Given the description of an element on the screen output the (x, y) to click on. 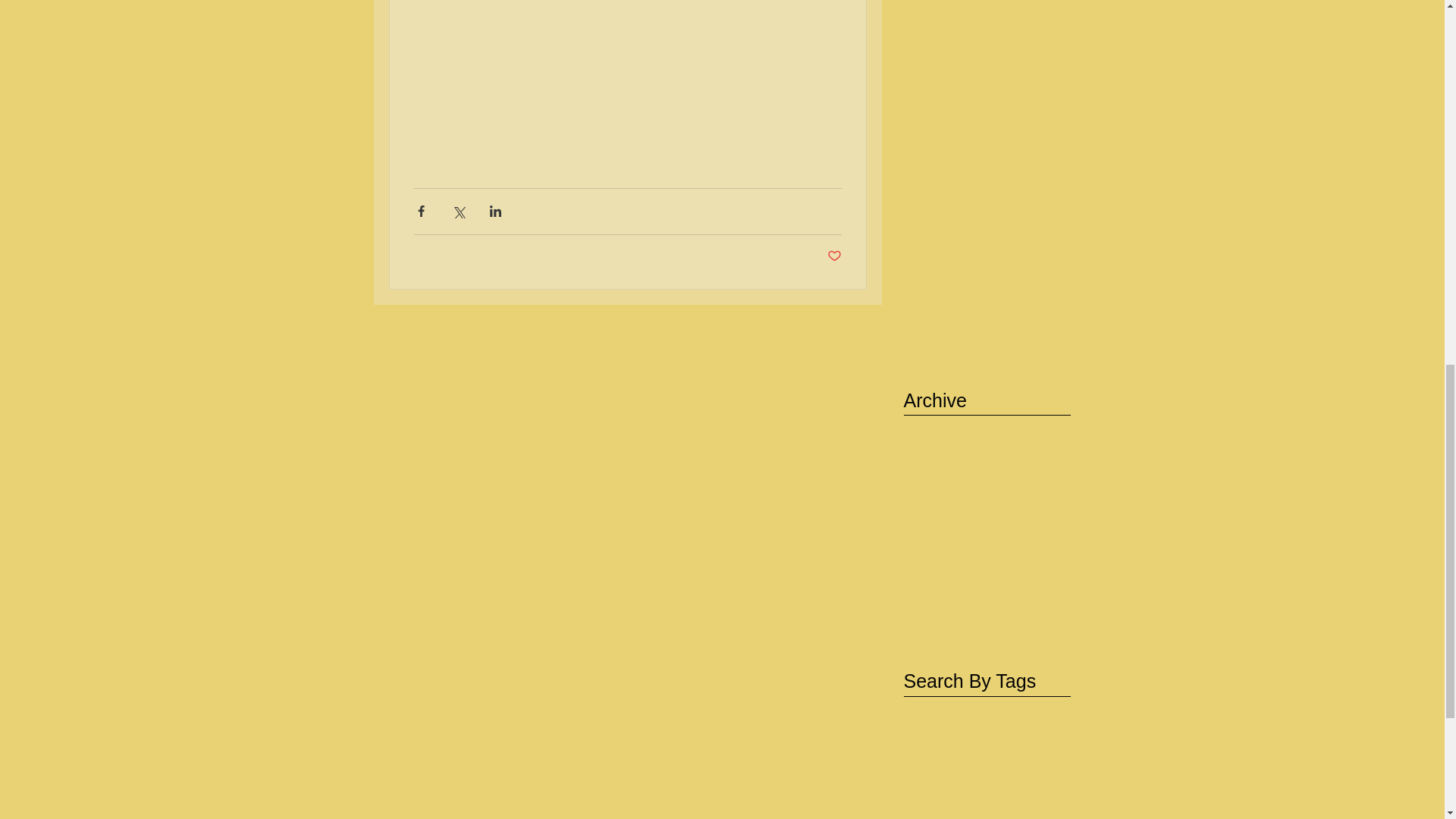
Post not marked as liked (834, 256)
